Given the description of an element on the screen output the (x, y) to click on. 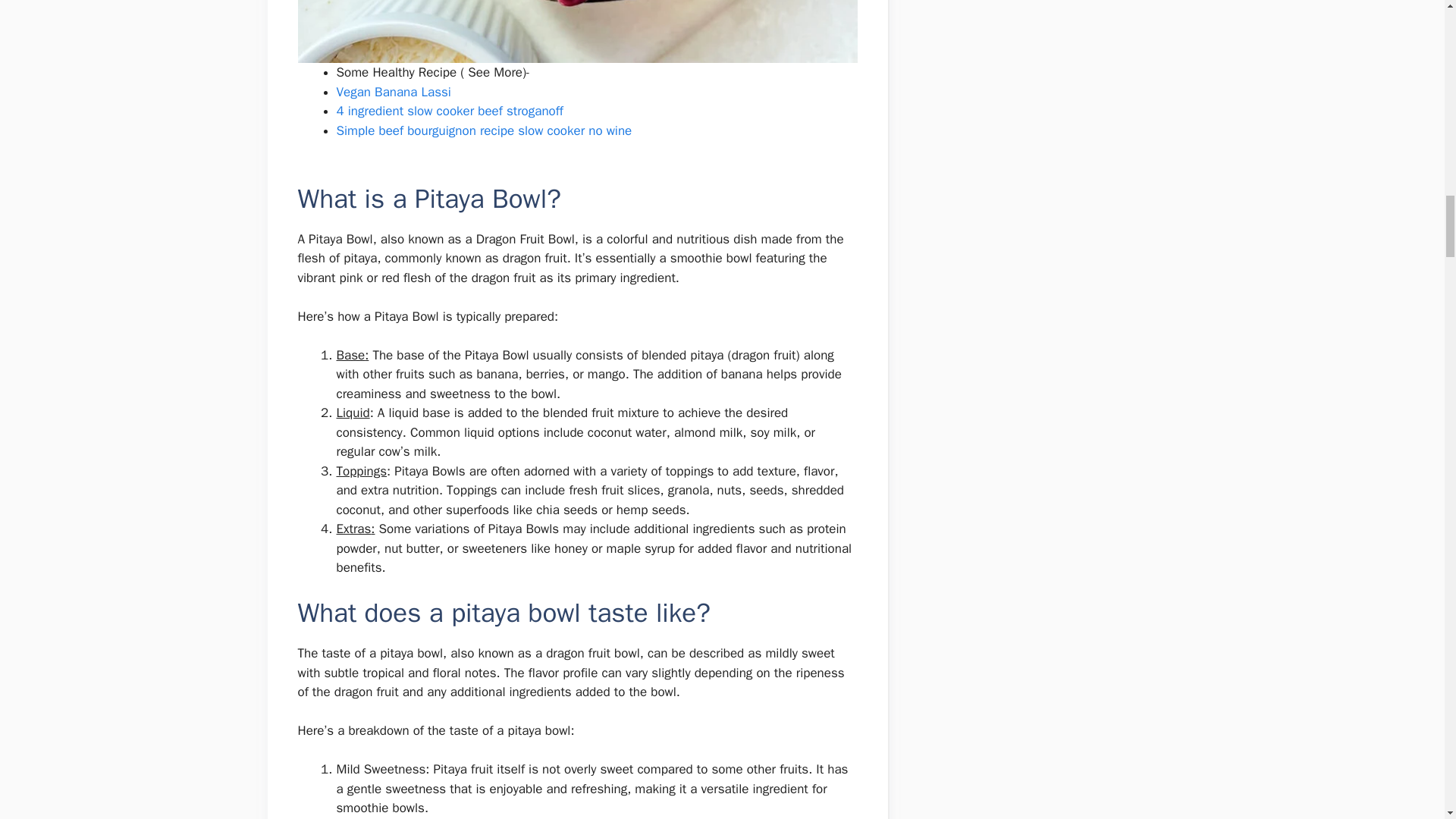
4 ingredient slow cooker beef stroganoff (449, 110)
Vegan Banana Lassi (393, 91)
Simple beef bourguignon recipe slow cooker no wine (483, 130)
